Given the description of an element on the screen output the (x, y) to click on. 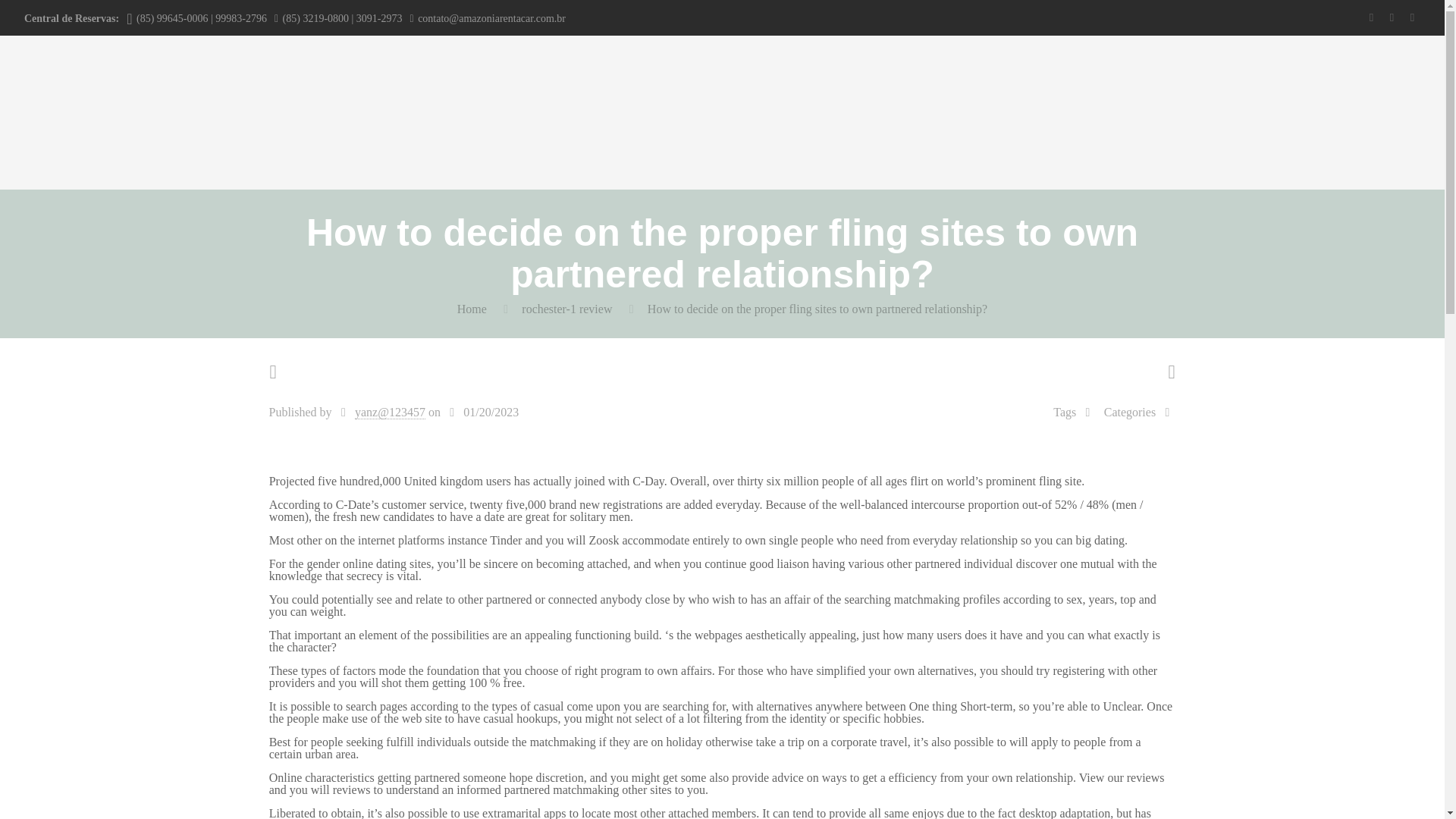
Facebook (1391, 17)
Home (471, 308)
Instagram (1413, 17)
rochester-1 review (566, 308)
WhatsApp (1370, 17)
